Given the description of an element on the screen output the (x, y) to click on. 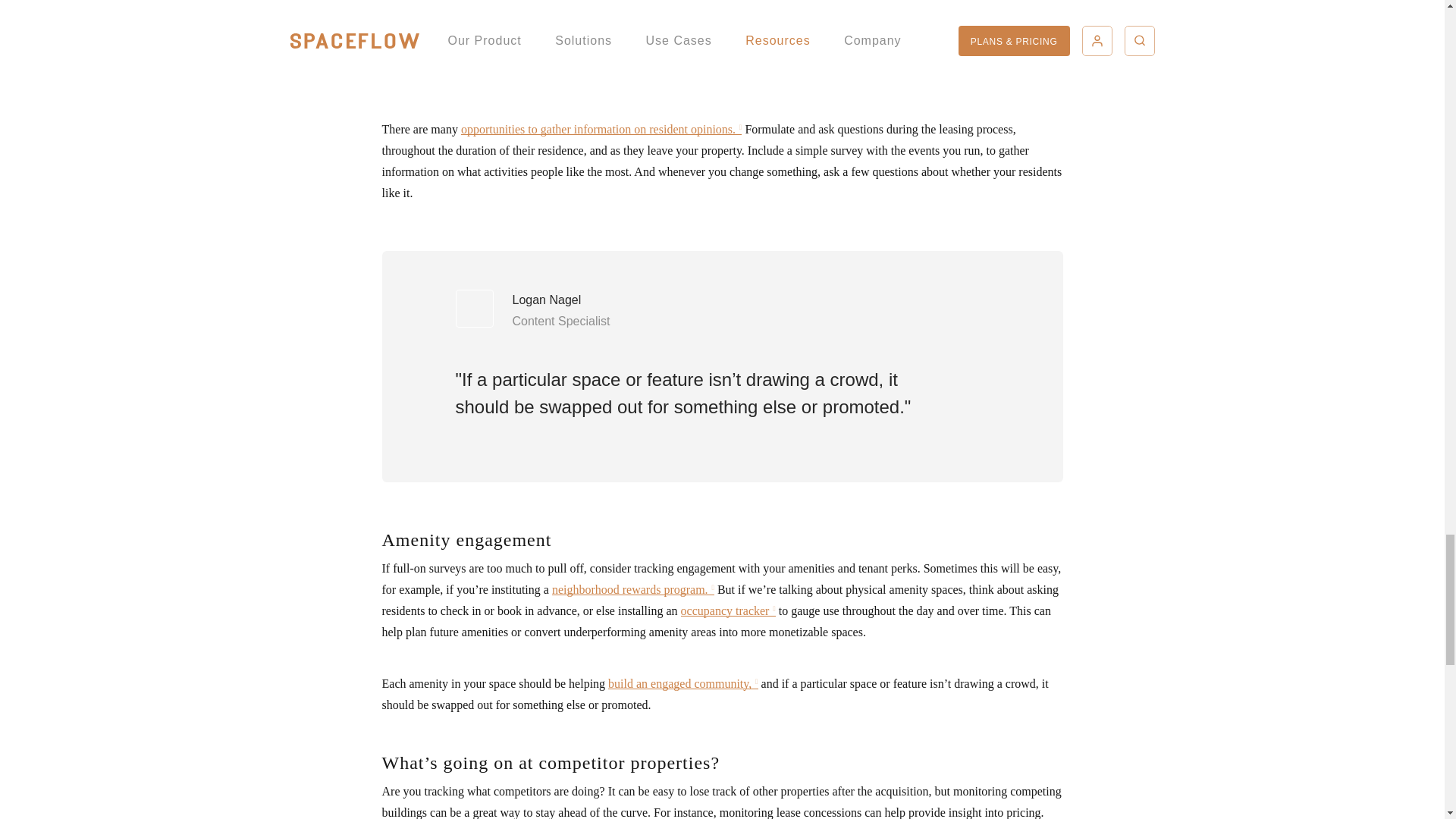
neighborhood rewards program. (632, 589)
occupancy tracker (728, 610)
opportunities to gather information on resident opinions. (601, 128)
build an engaged community, (682, 683)
